Given the description of an element on the screen output the (x, y) to click on. 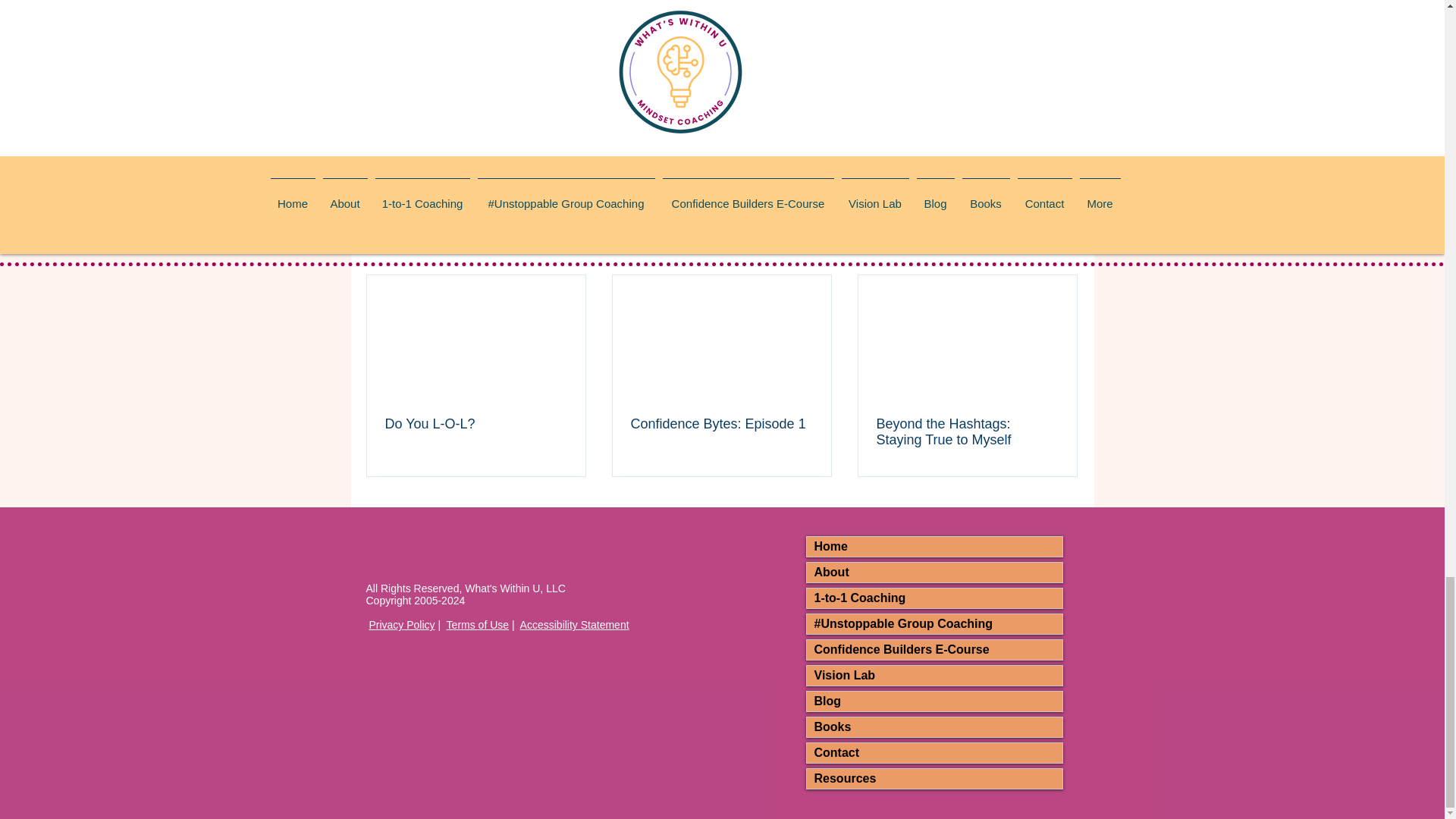
Vision Lab (934, 675)
Books (934, 727)
Resources (934, 778)
Do You L-O-L? (476, 424)
See All (1061, 248)
Terms of Use (477, 624)
About (934, 572)
Confidence Bytes: Episode 1 (721, 424)
Beyond the Hashtags: Staying True to Myself (967, 431)
1-to-1 Coaching (934, 598)
Confidence Builders E-Course (934, 649)
Accessibility Statement (573, 624)
Contact (934, 752)
Home (934, 546)
Privacy Policy (400, 624)
